Given the description of an element on the screen output the (x, y) to click on. 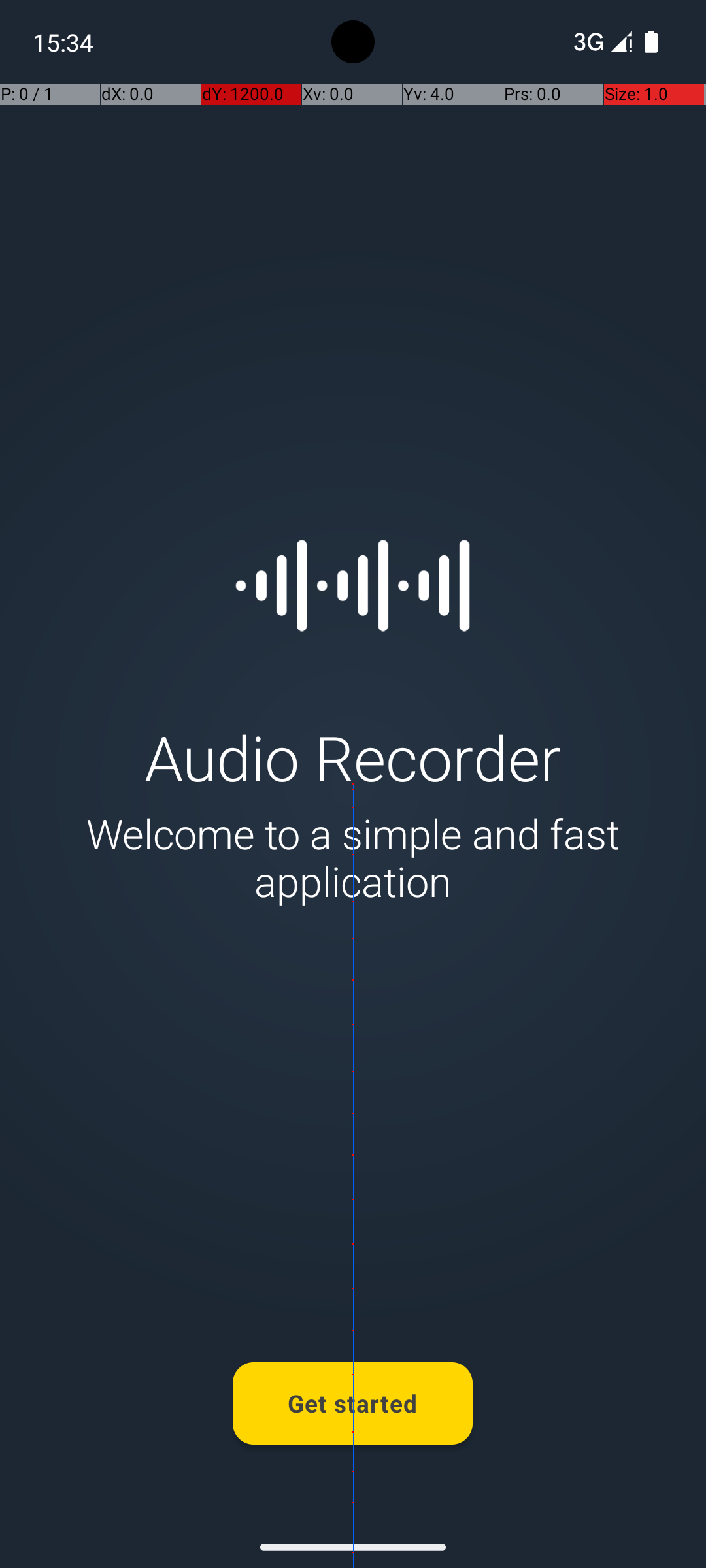
Get started Element type: android.widget.Button (352, 1403)
Audio Recorder Element type: android.widget.TextView (352, 756)
Welcome to a simple and fast application Element type: android.widget.TextView (352, 856)
